Given the description of an element on the screen output the (x, y) to click on. 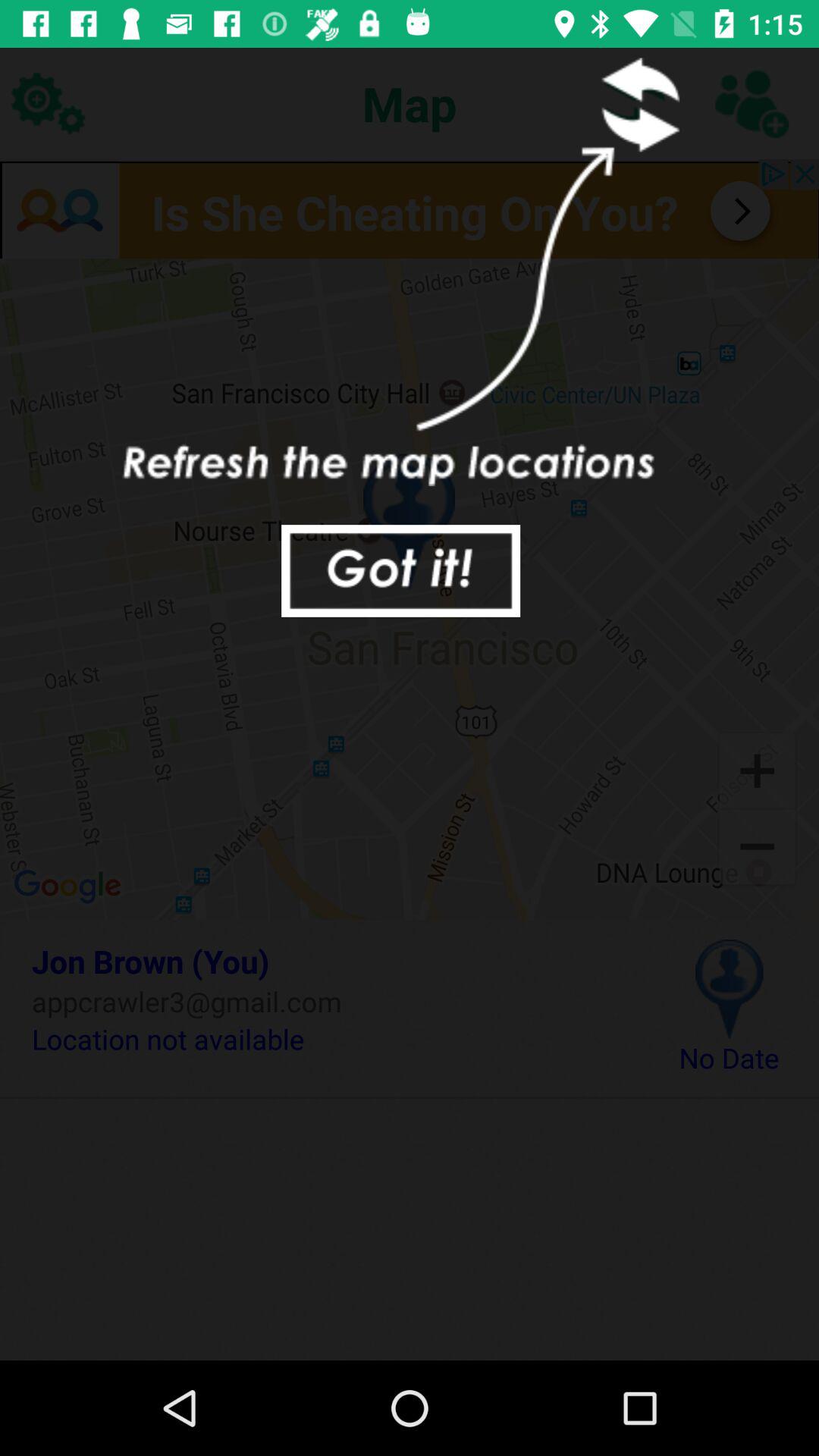
accept tutorial instructions (400, 570)
